Given the description of an element on the screen output the (x, y) to click on. 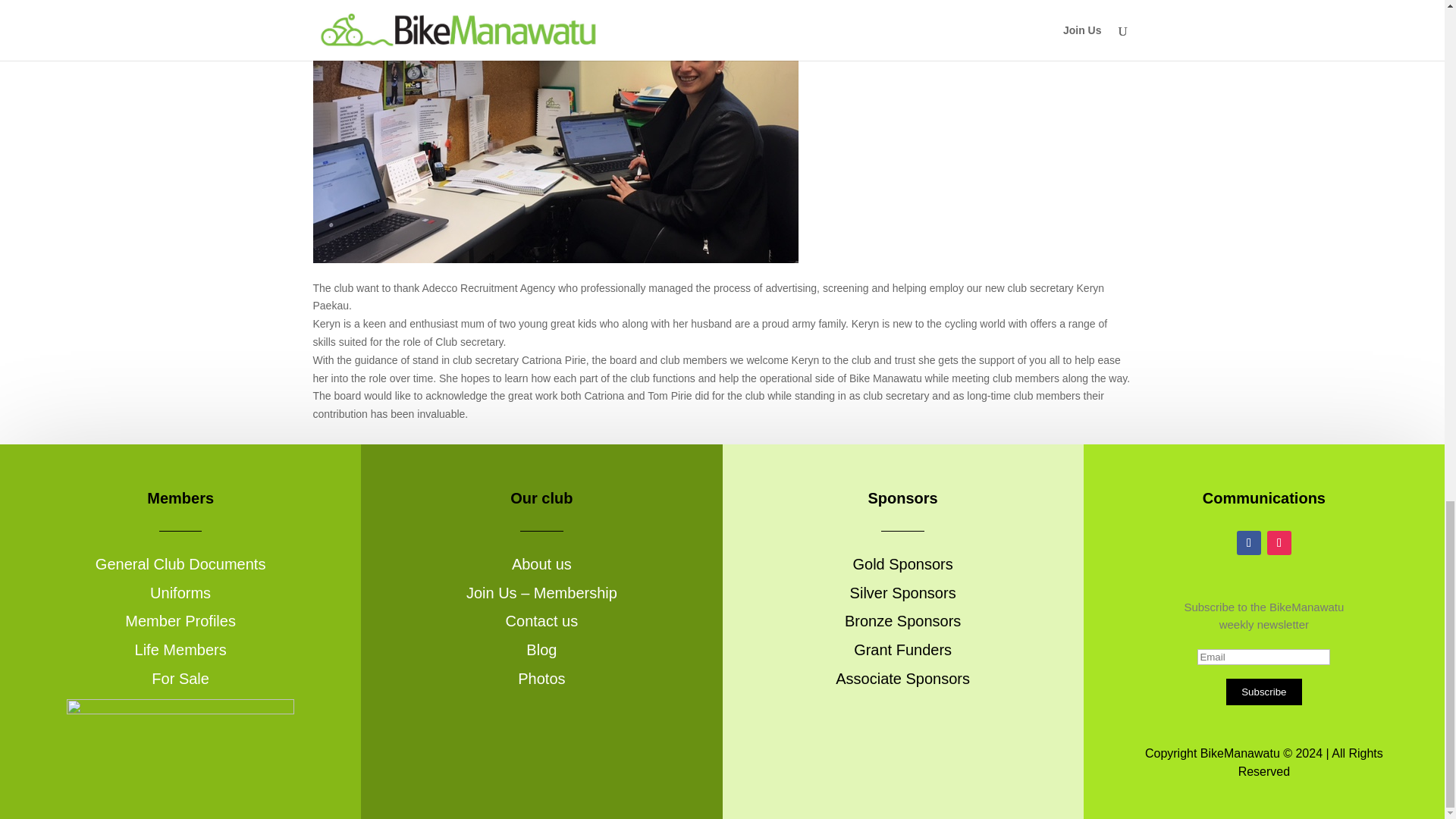
BikeManawatuHorizontal2 (180, 711)
Subscribe (1263, 691)
Follow on Facebook (1248, 542)
Follow on Instagram (1278, 542)
